Given the description of an element on the screen output the (x, y) to click on. 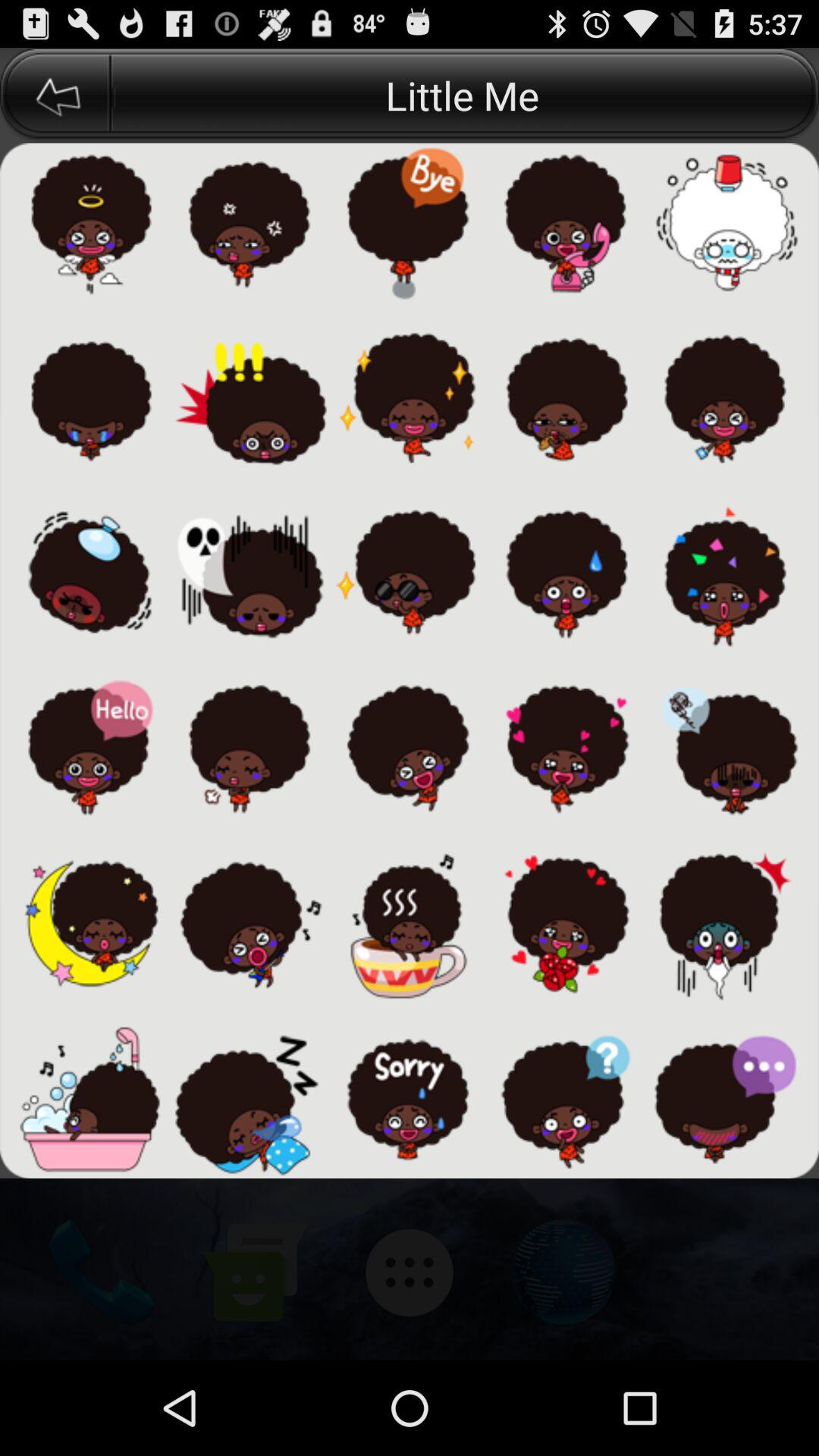
turn on the button to the left of little me button (55, 95)
